Given the description of an element on the screen output the (x, y) to click on. 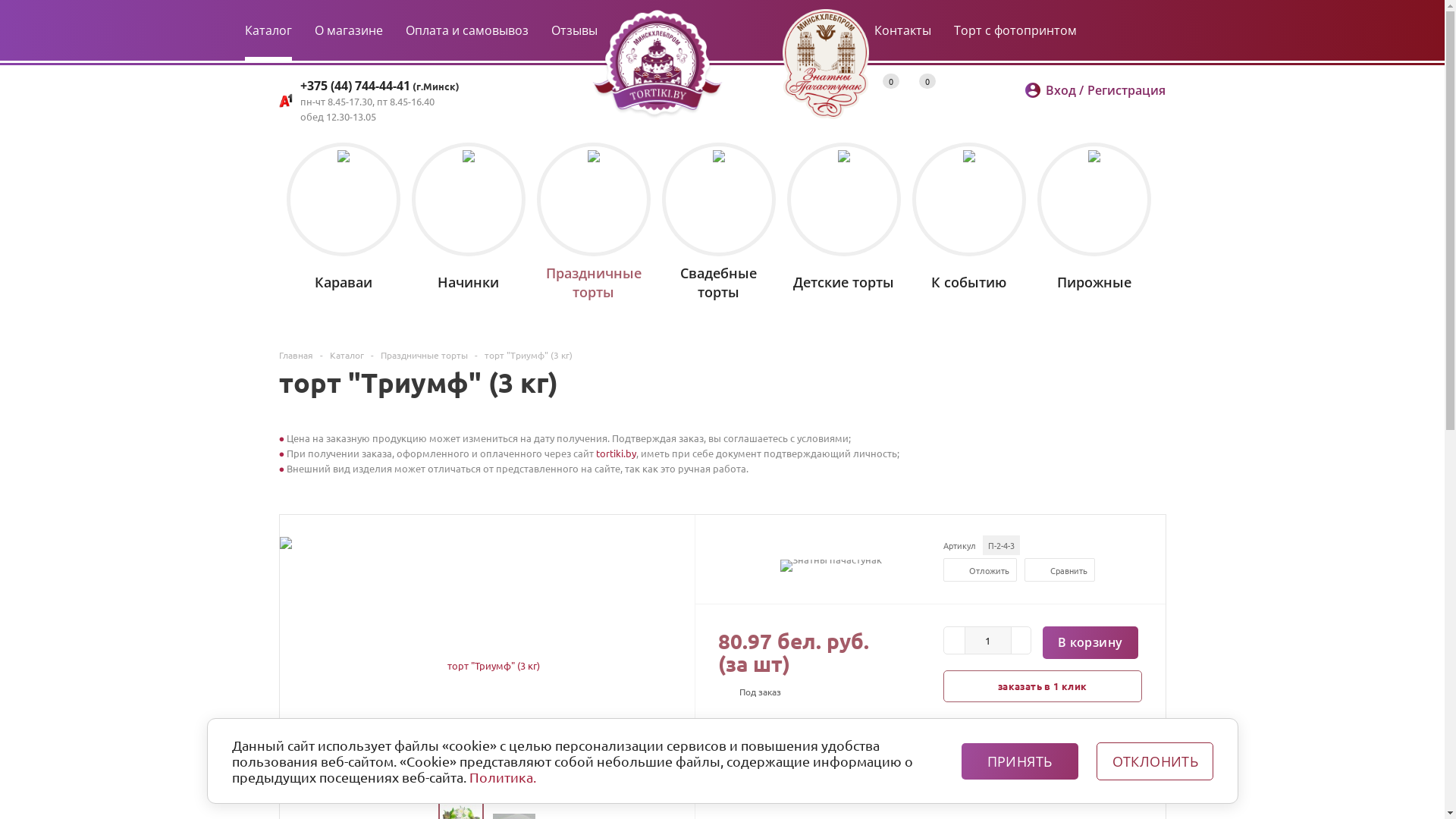
+375 (44) 744-44-41 Element type: text (355, 85)
tortiki.by Element type: text (616, 452)
0 Element type: text (890, 80)
